Given the description of an element on the screen output the (x, y) to click on. 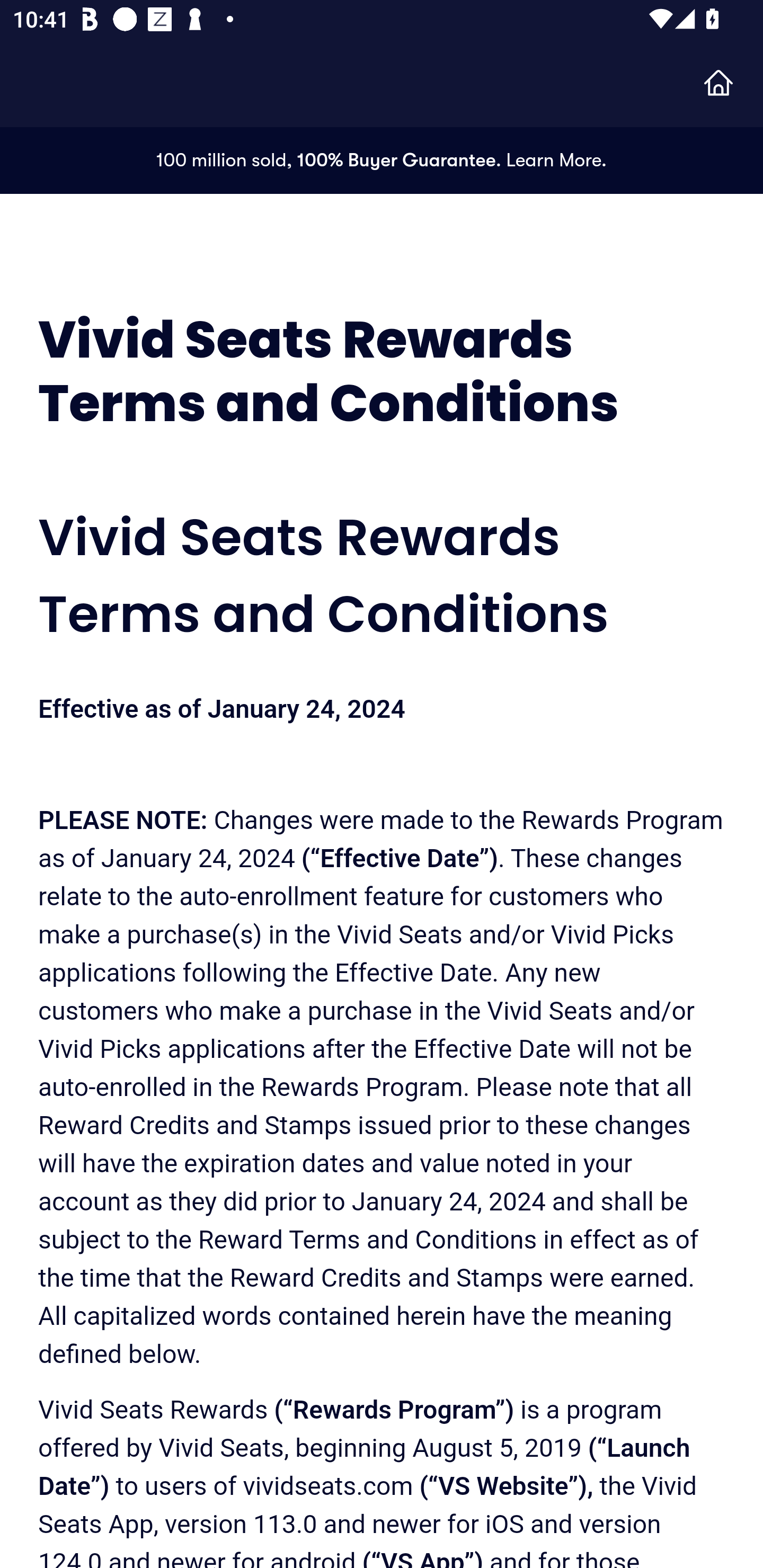
100% Buyer Guarantee (395, 159)
